Given the description of an element on the screen output the (x, y) to click on. 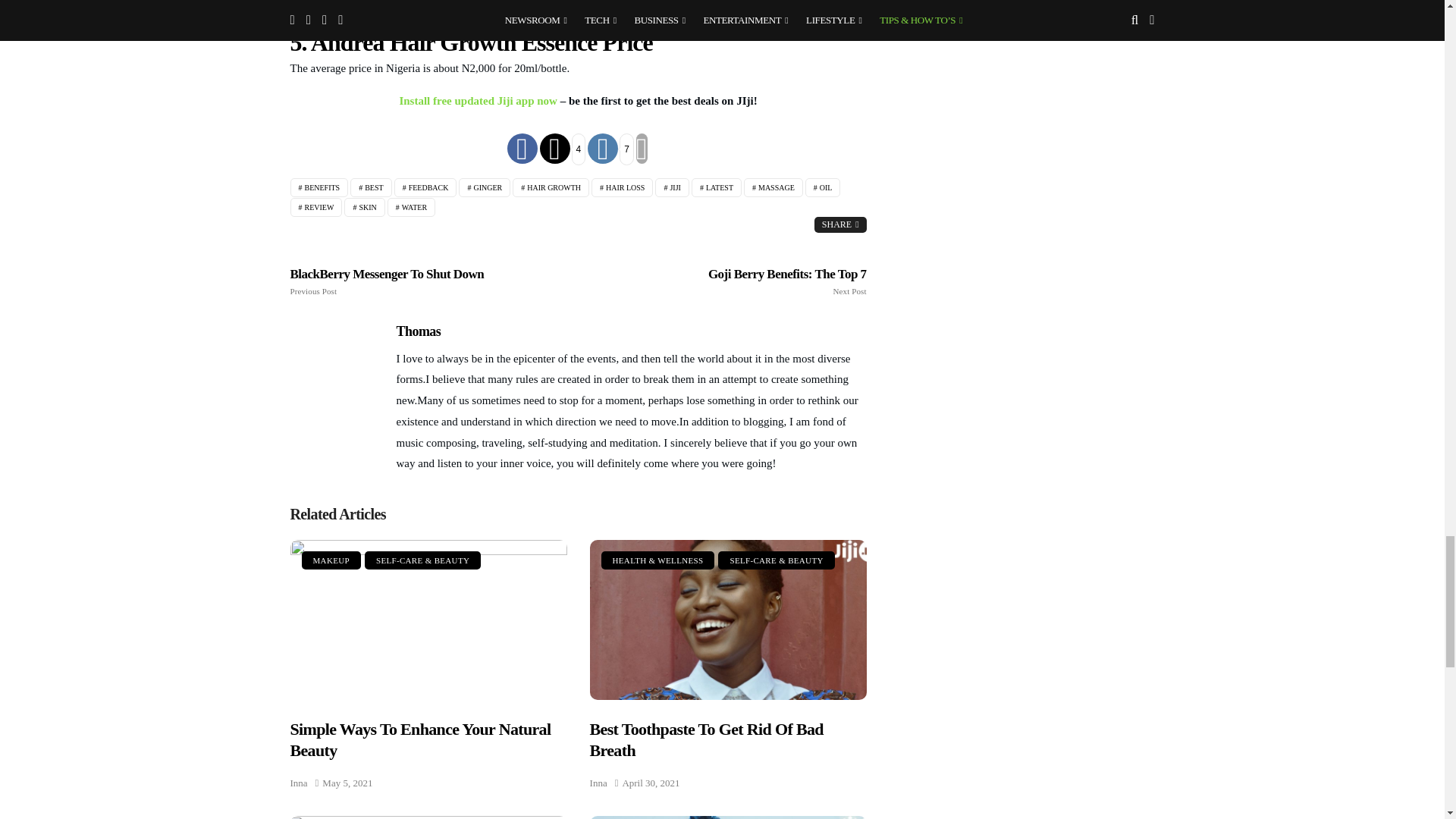
Share Twitter (563, 149)
Posts by Inna (598, 782)
Share LinkedIn (610, 149)
Simple Ways To Enhance Your Natural Beauty (427, 619)
Posts by Inna (298, 782)
Share Facebook (521, 148)
Best Toothpaste To Get Rid Of Bad Breath (727, 619)
